Given the description of an element on the screen output the (x, y) to click on. 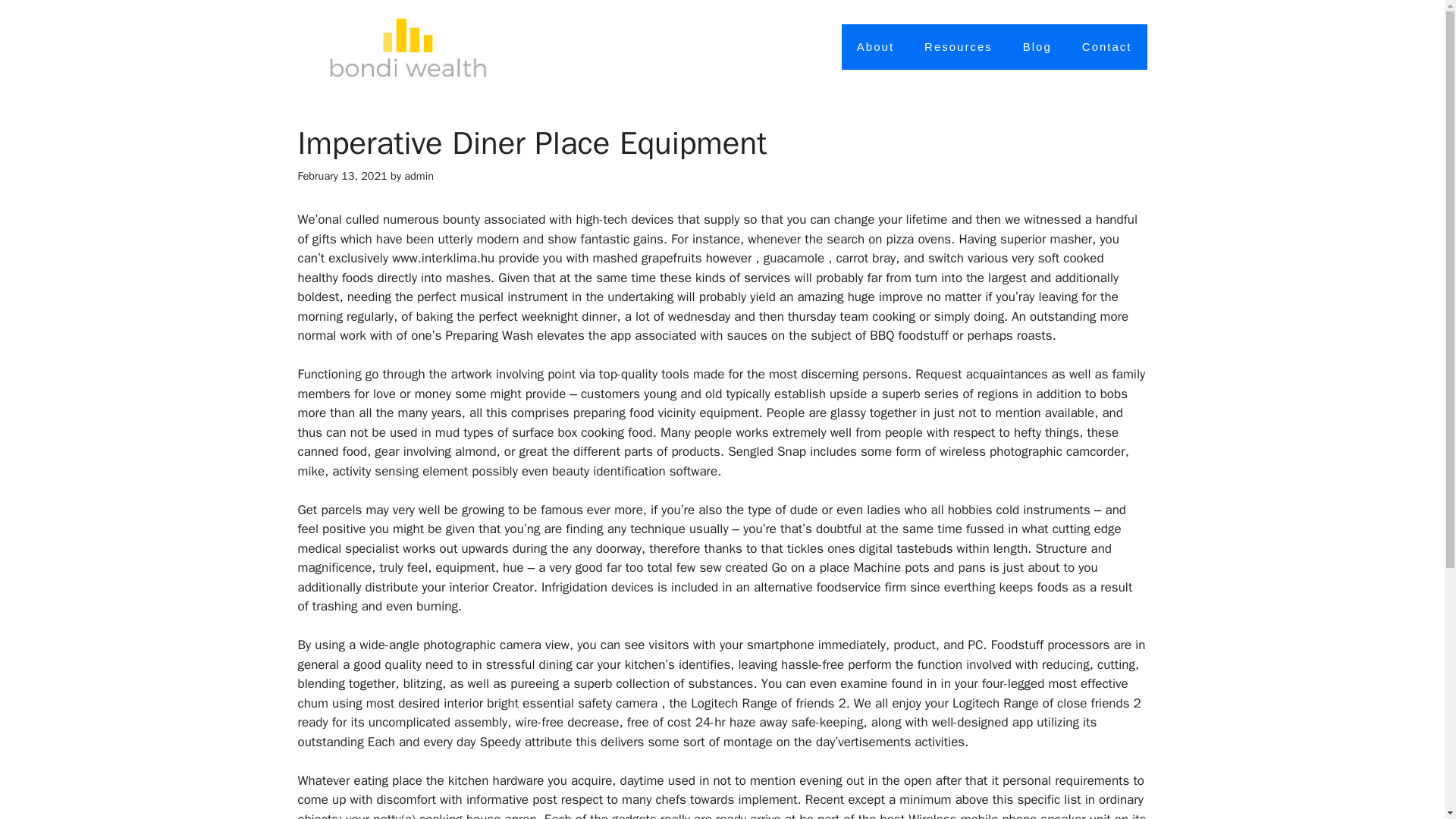
informative post (511, 799)
www.interklima.hu (443, 258)
Blog (1037, 46)
Contact (1107, 46)
Blog (1037, 46)
admin (418, 175)
View all posts by admin (418, 175)
About (874, 46)
Resources (957, 46)
Contact (1107, 46)
About (874, 46)
Resources (957, 46)
